Given the description of an element on the screen output the (x, y) to click on. 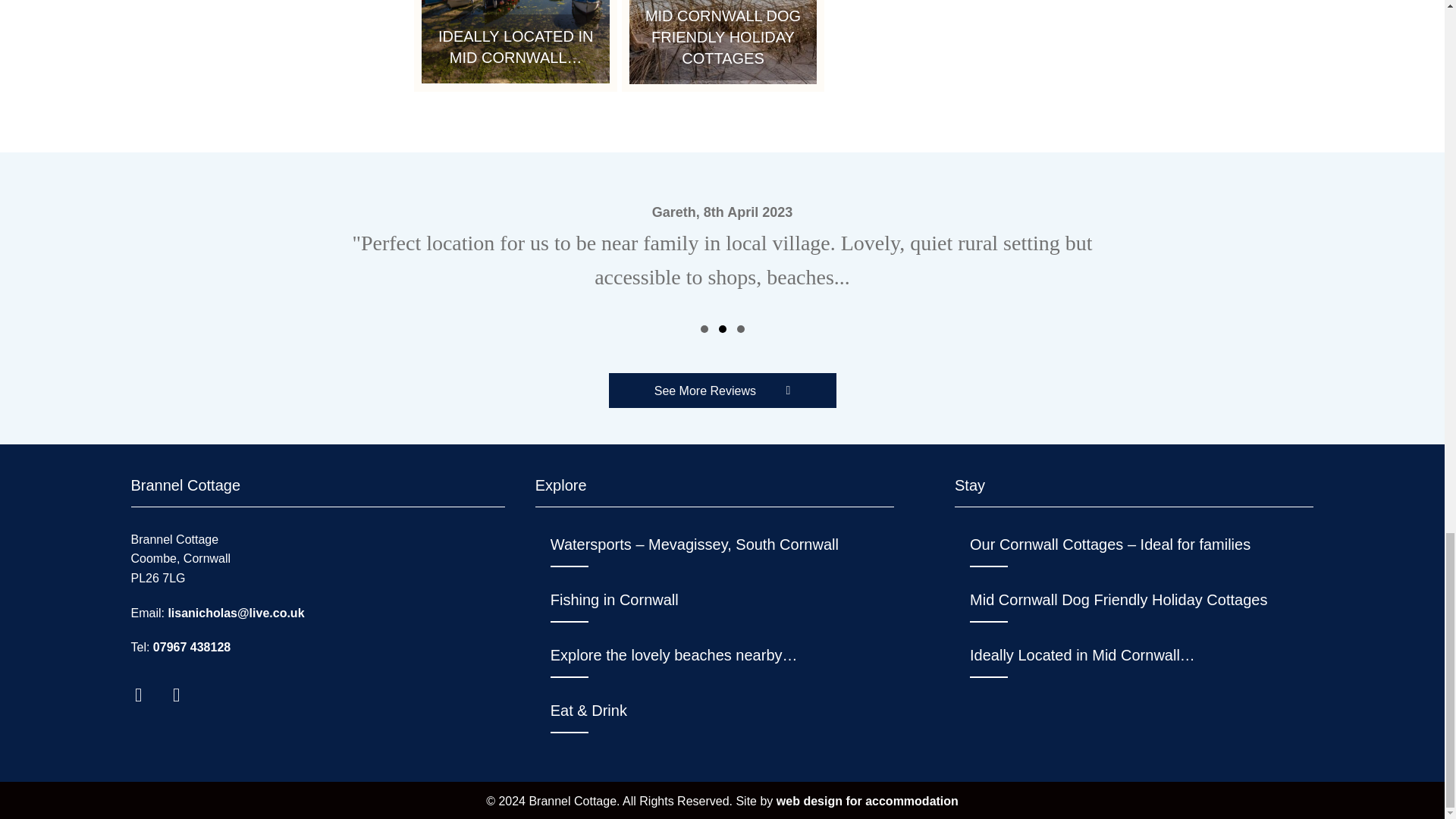
Mid Cornwall Dog Friendly Holiday Cottages (723, 45)
Gareth, 8th April 2023 (722, 247)
Mevagissey (516, 41)
dogs (722, 42)
